Given the description of an element on the screen output the (x, y) to click on. 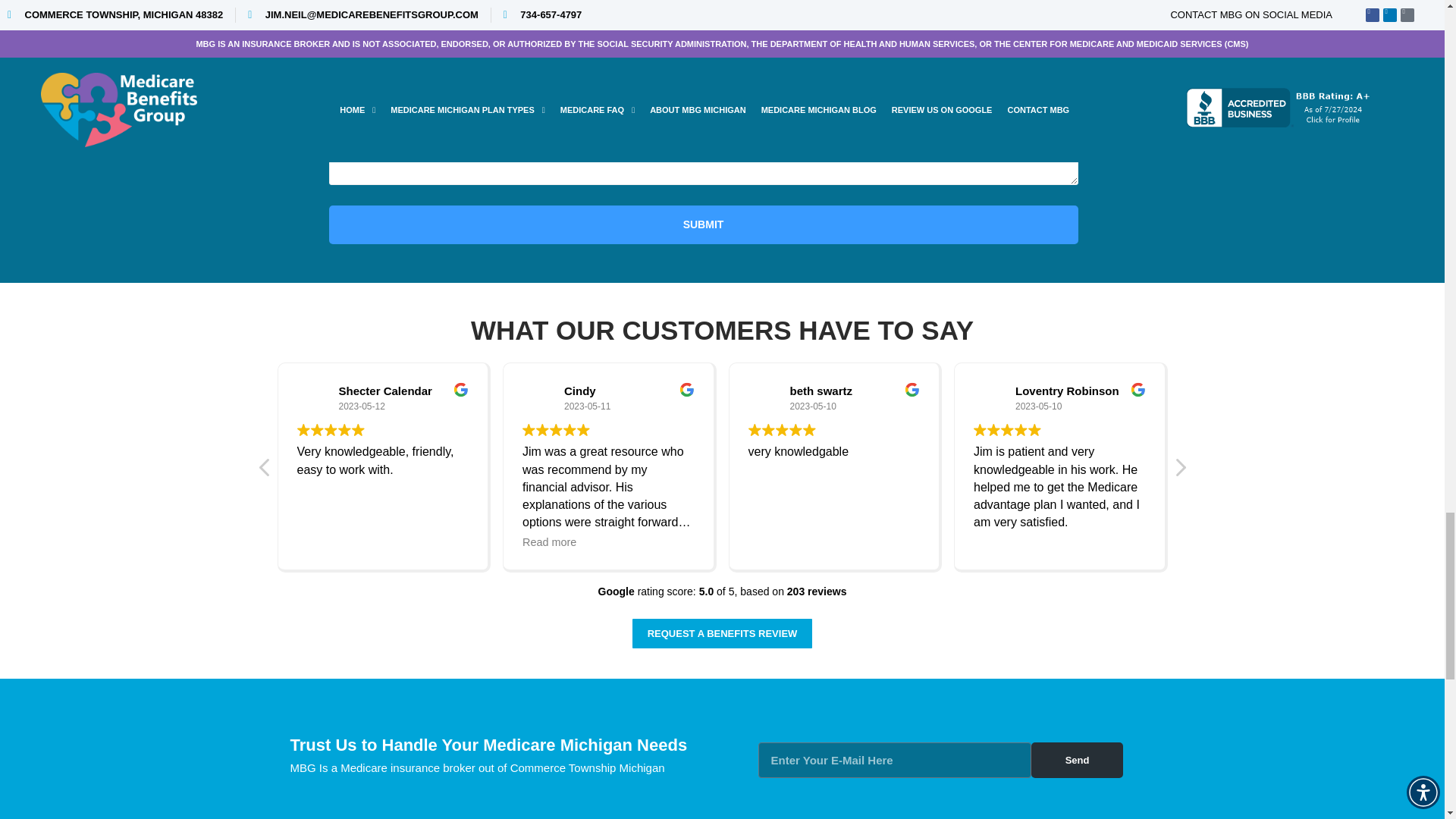
Female (585, 6)
No (370, 6)
Yes (334, 6)
Single (893, 6)
Married (839, 6)
Male (638, 6)
